Given the description of an element on the screen output the (x, y) to click on. 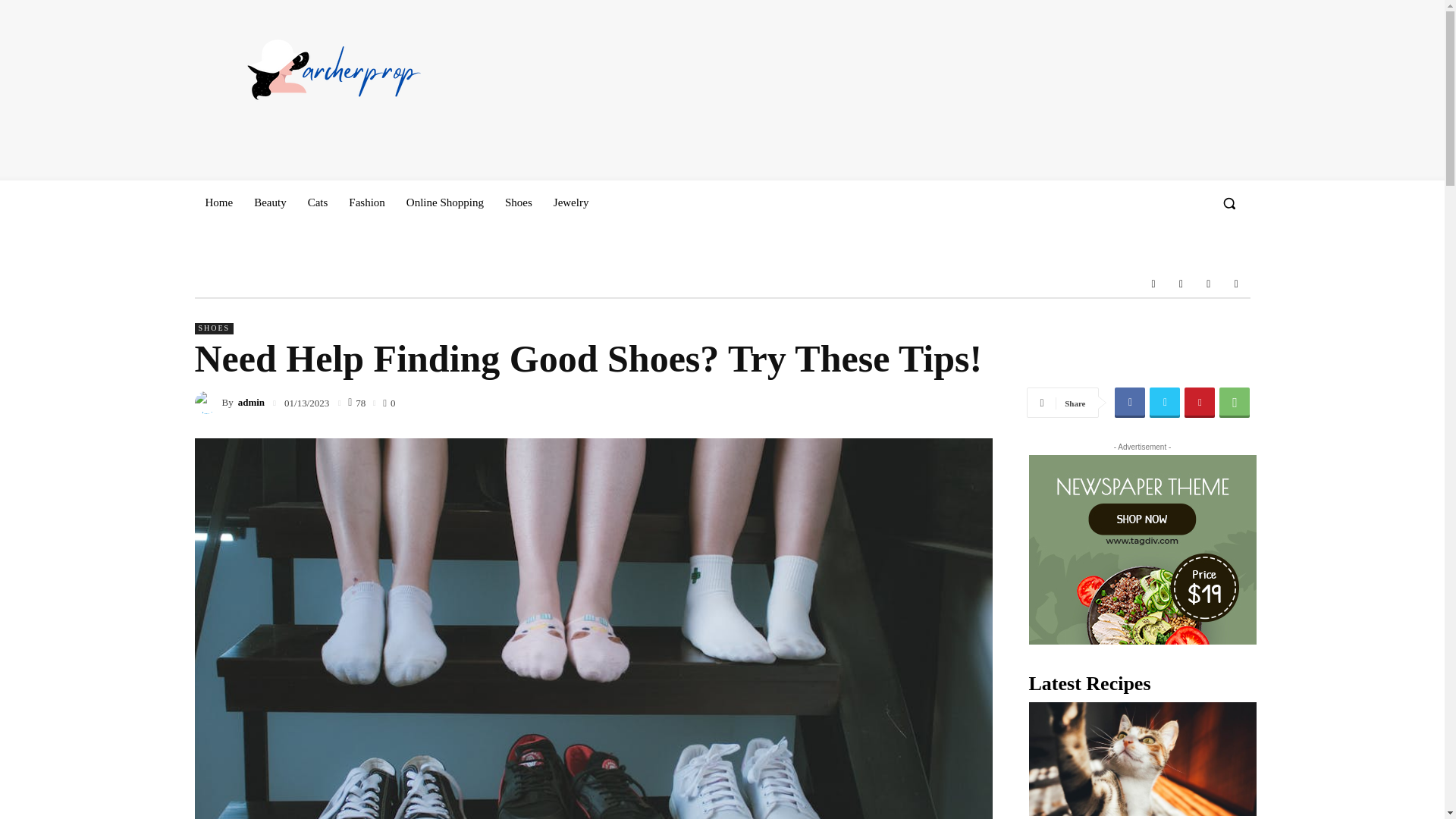
Youtube (1236, 283)
Jewelry (571, 202)
Beauty (270, 202)
Fashion (366, 202)
Instagram (1180, 283)
Shoes (519, 202)
Facebook (1153, 283)
VKontakte (1209, 283)
Cats (318, 202)
Home (218, 202)
Online Shopping (445, 202)
